Given the description of an element on the screen output the (x, y) to click on. 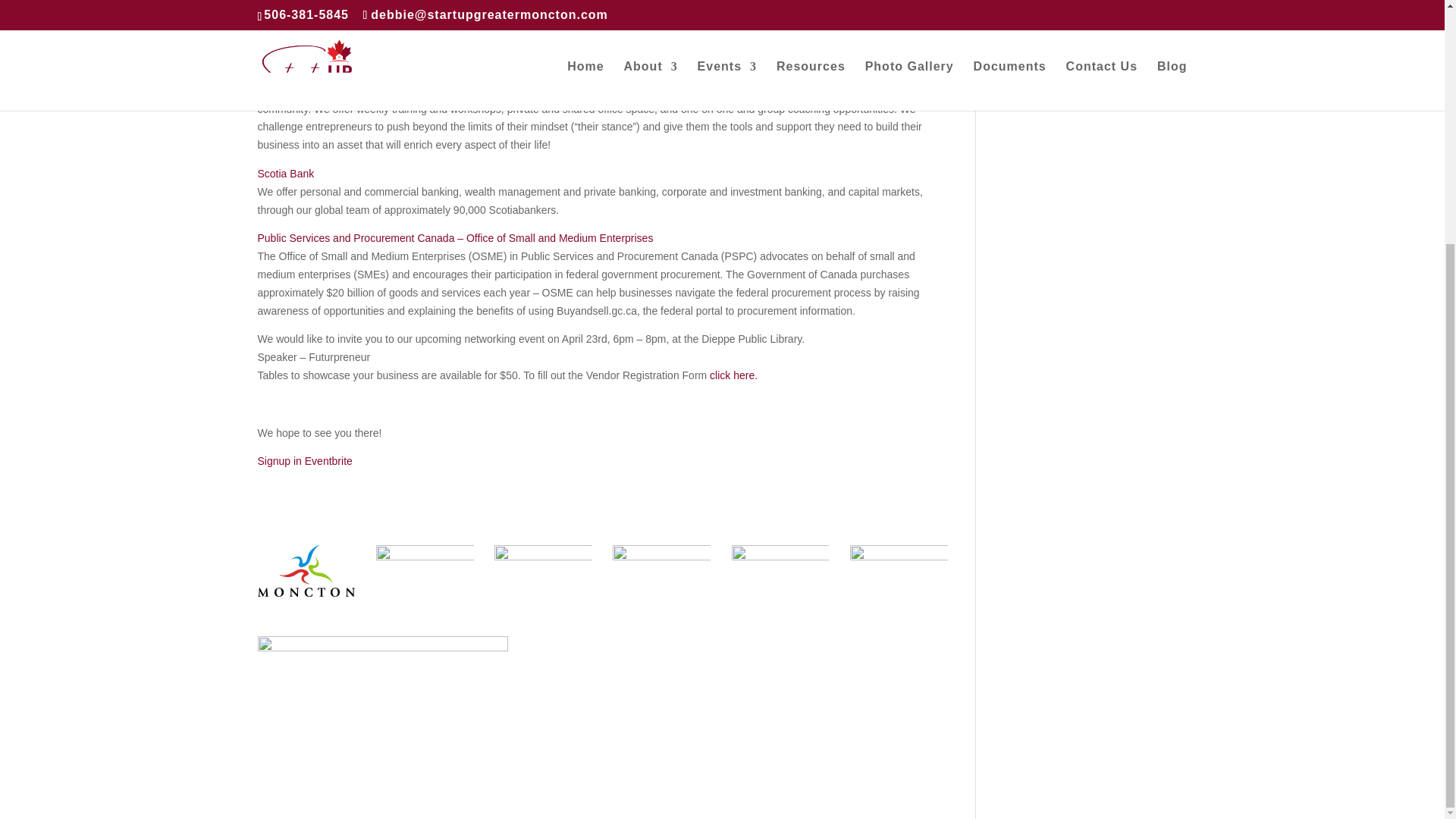
Scotia Bank (285, 173)
 click here. (731, 375)
Signup in Eventbrite (304, 460)
StanceWise i (289, 91)
Workspace Moncton (311, 43)
